Given the description of an element on the screen output the (x, y) to click on. 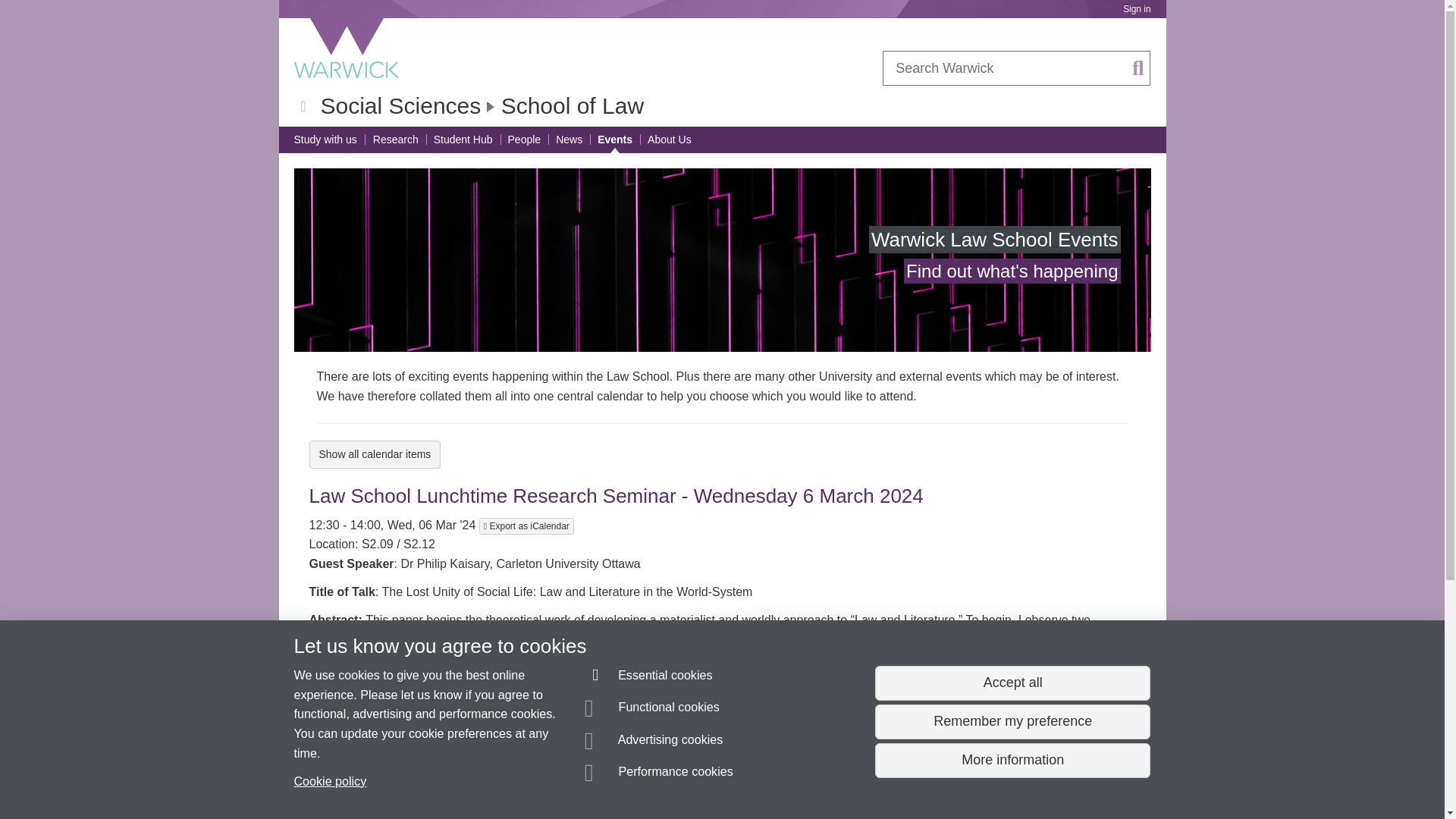
Student Hub (463, 139)
Show all news from this tag (553, 816)
University of Warwick homepage (346, 48)
Study with us (325, 139)
Show all news from this tag (461, 816)
Show all news from this tag (520, 816)
Research (395, 139)
Sign in (1136, 9)
